Given the description of an element on the screen output the (x, y) to click on. 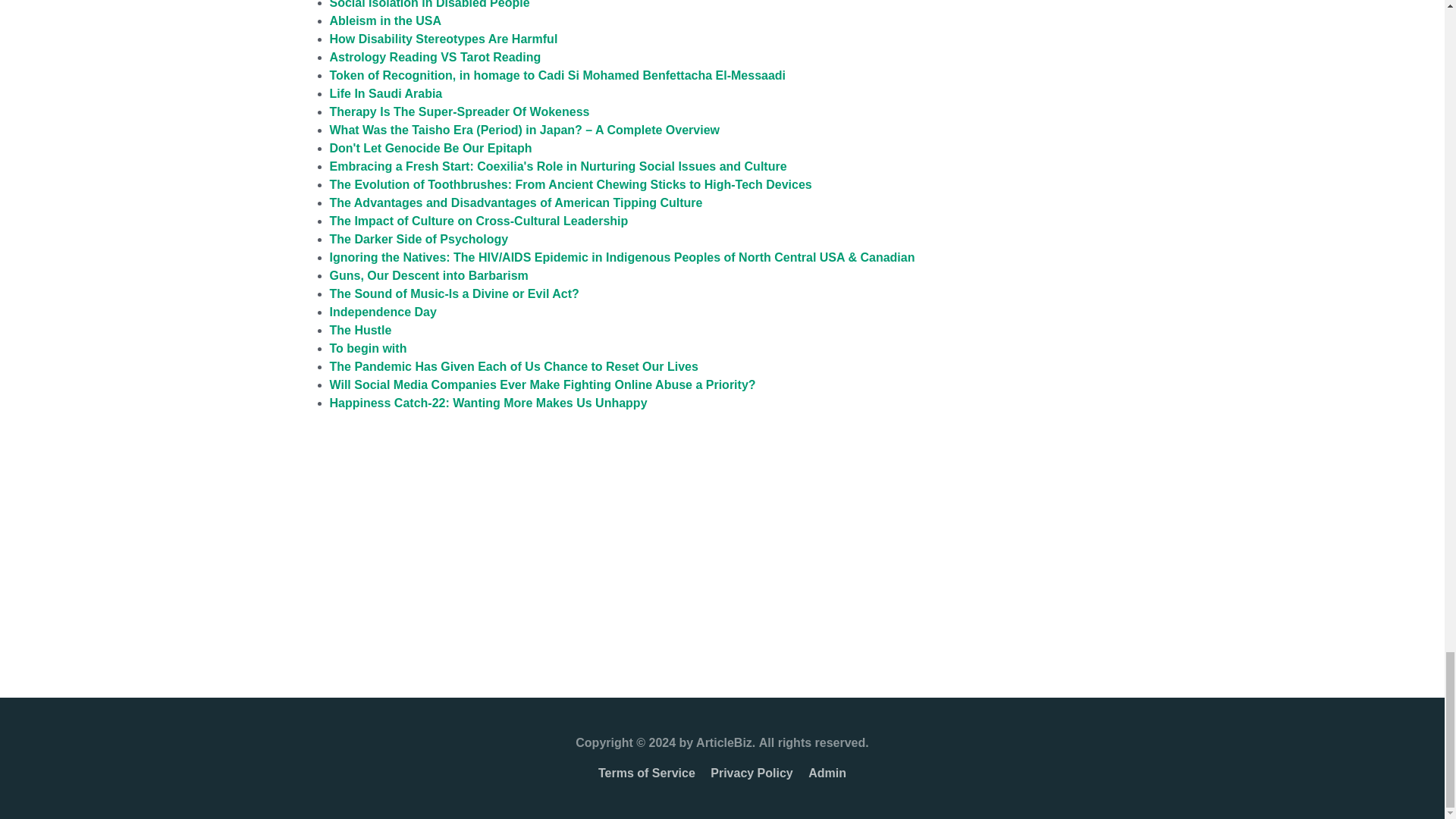
Astrology Reading VS Tarot Reading (434, 56)
Ableism in the USA (385, 20)
How Disability Stereotypes Are Harmful (443, 38)
Social Isolation in Disabled People (429, 4)
